Given the description of an element on the screen output the (x, y) to click on. 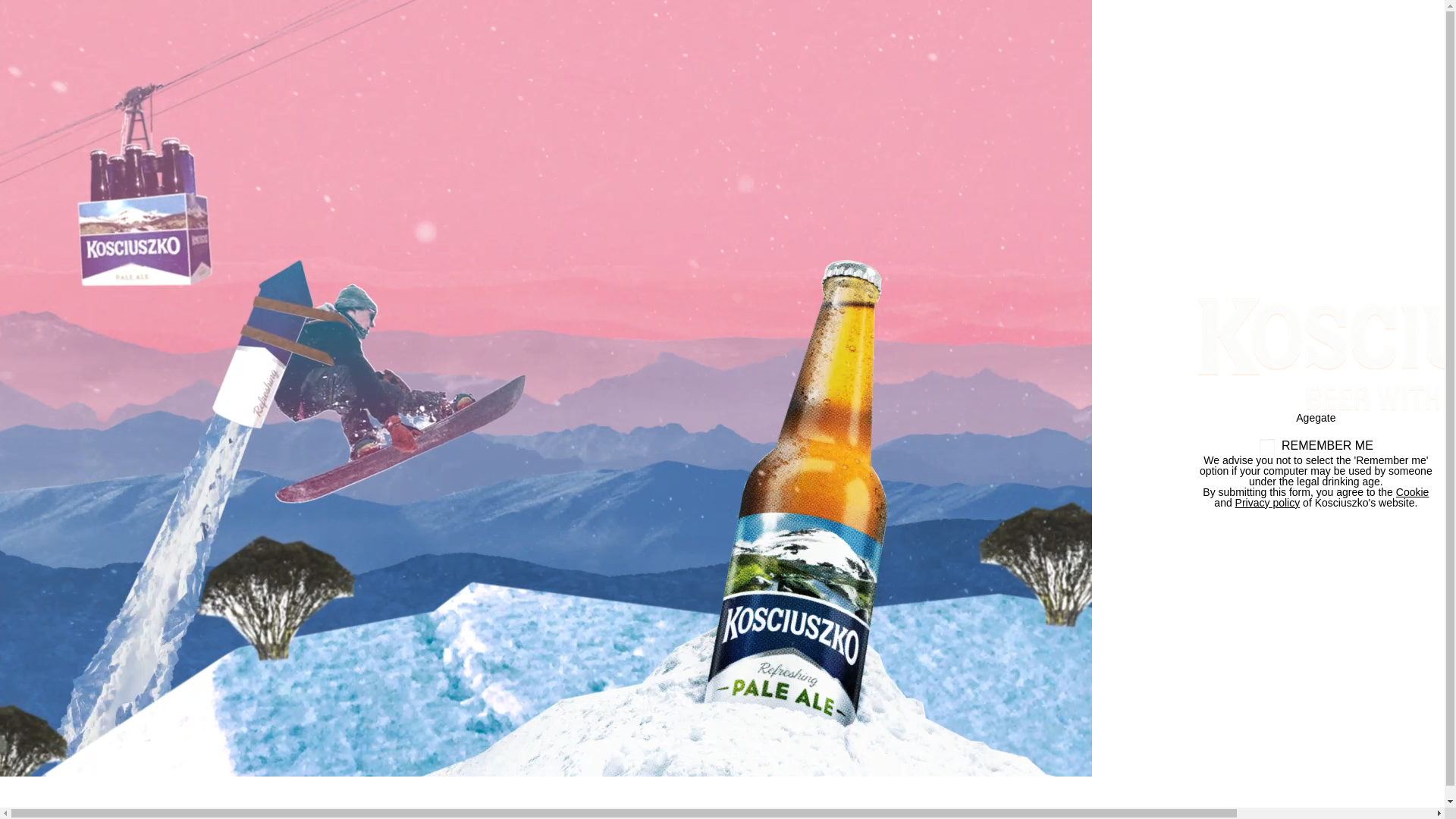
Cookie Element type: text (1412, 491)
Privacy policy Element type: text (1267, 501)
